Given the description of an element on the screen output the (x, y) to click on. 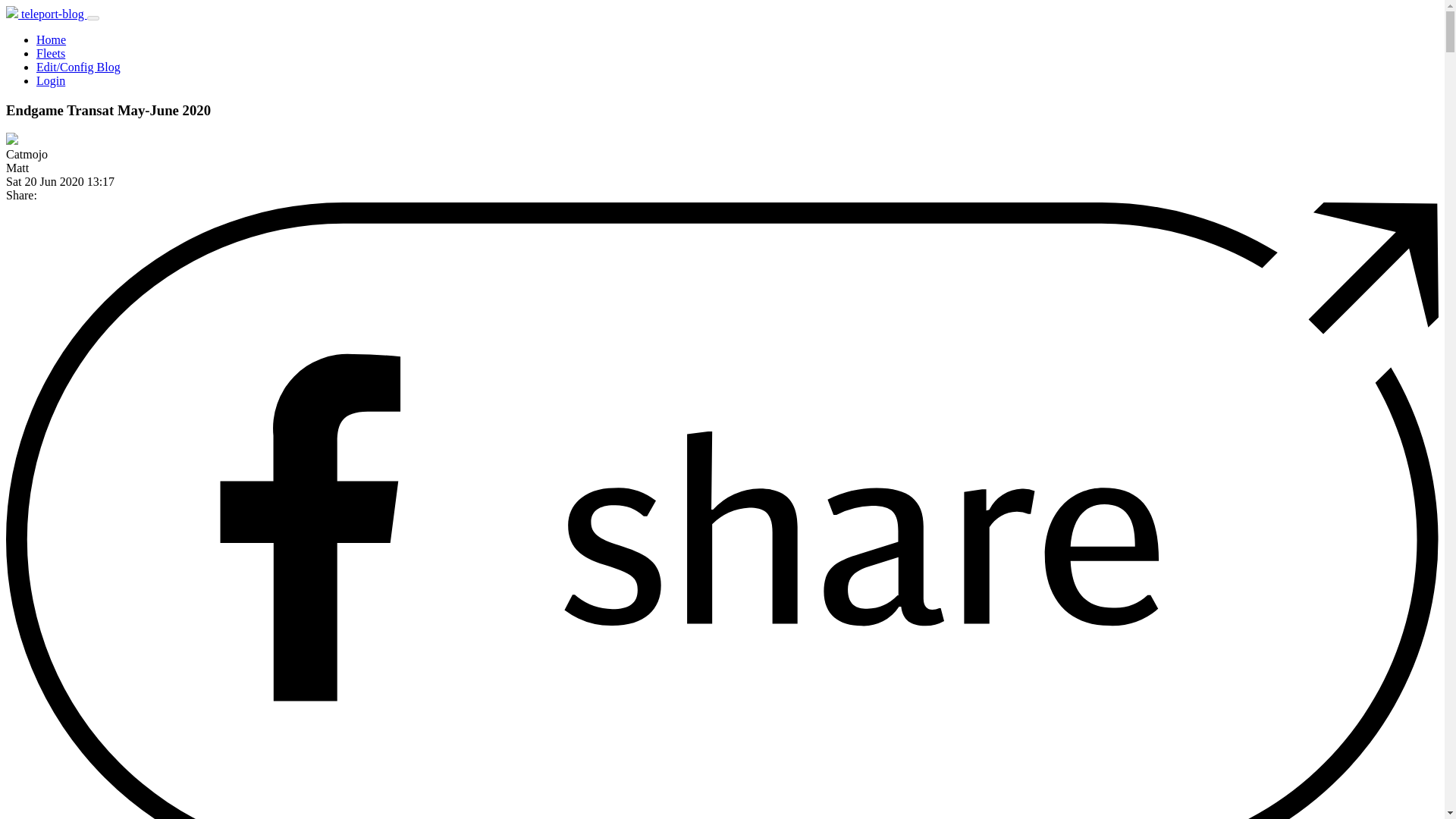
Login (50, 80)
Home (50, 39)
teleport-blog (46, 13)
Fleets (50, 52)
